Given the description of an element on the screen output the (x, y) to click on. 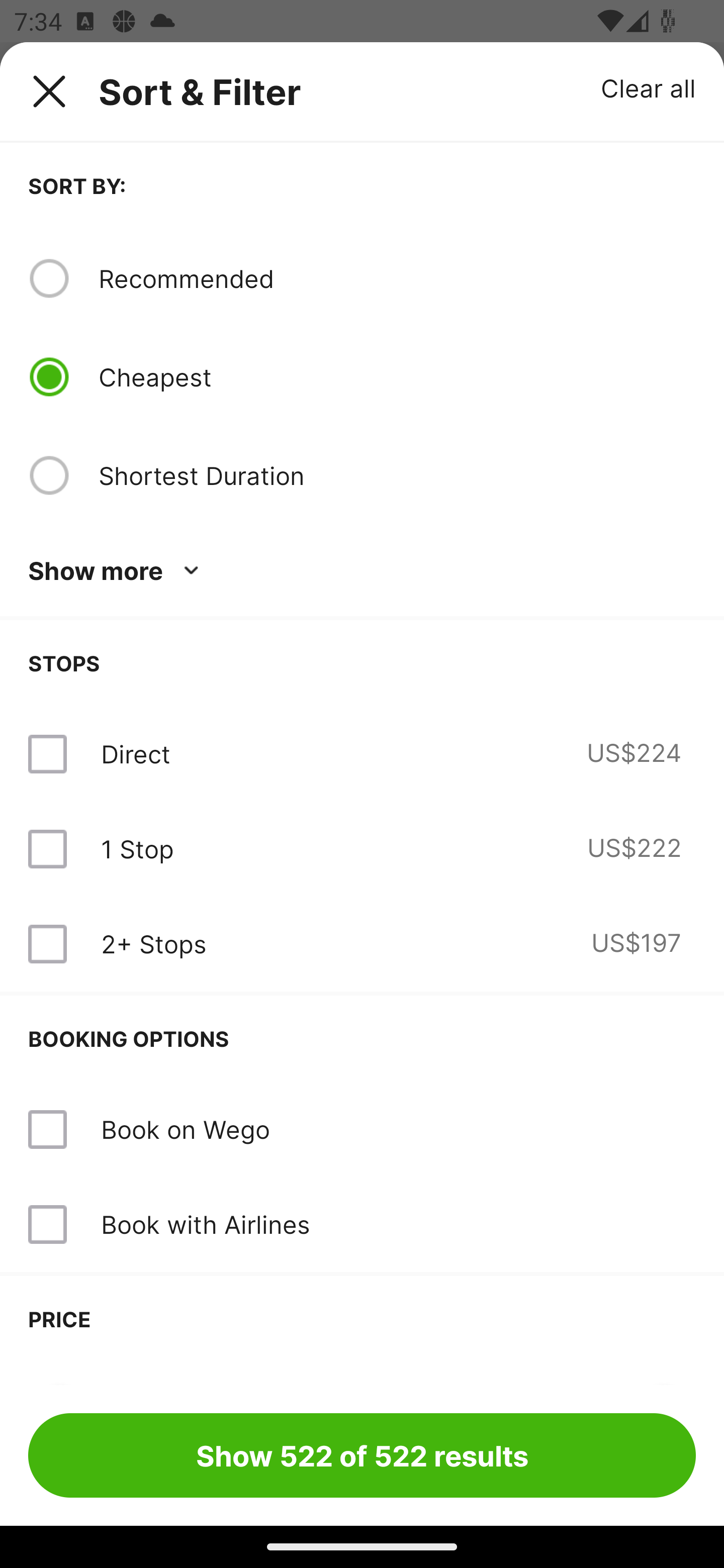
Clear all (648, 87)
Recommended  (396, 278)
Cheapest (396, 377)
Shortest Duration (396, 474)
Show more (116, 570)
Direct US$224 (362, 754)
Direct (135, 753)
1 Stop US$222 (362, 848)
1 Stop (136, 849)
2+ Stops US$197 (362, 943)
2+ Stops (153, 943)
Book on Wego (362, 1129)
Book on Wego (184, 1128)
Book with Airlines (362, 1224)
Book with Airlines (204, 1224)
Show 522 of 522 results (361, 1454)
